Given the description of an element on the screen output the (x, y) to click on. 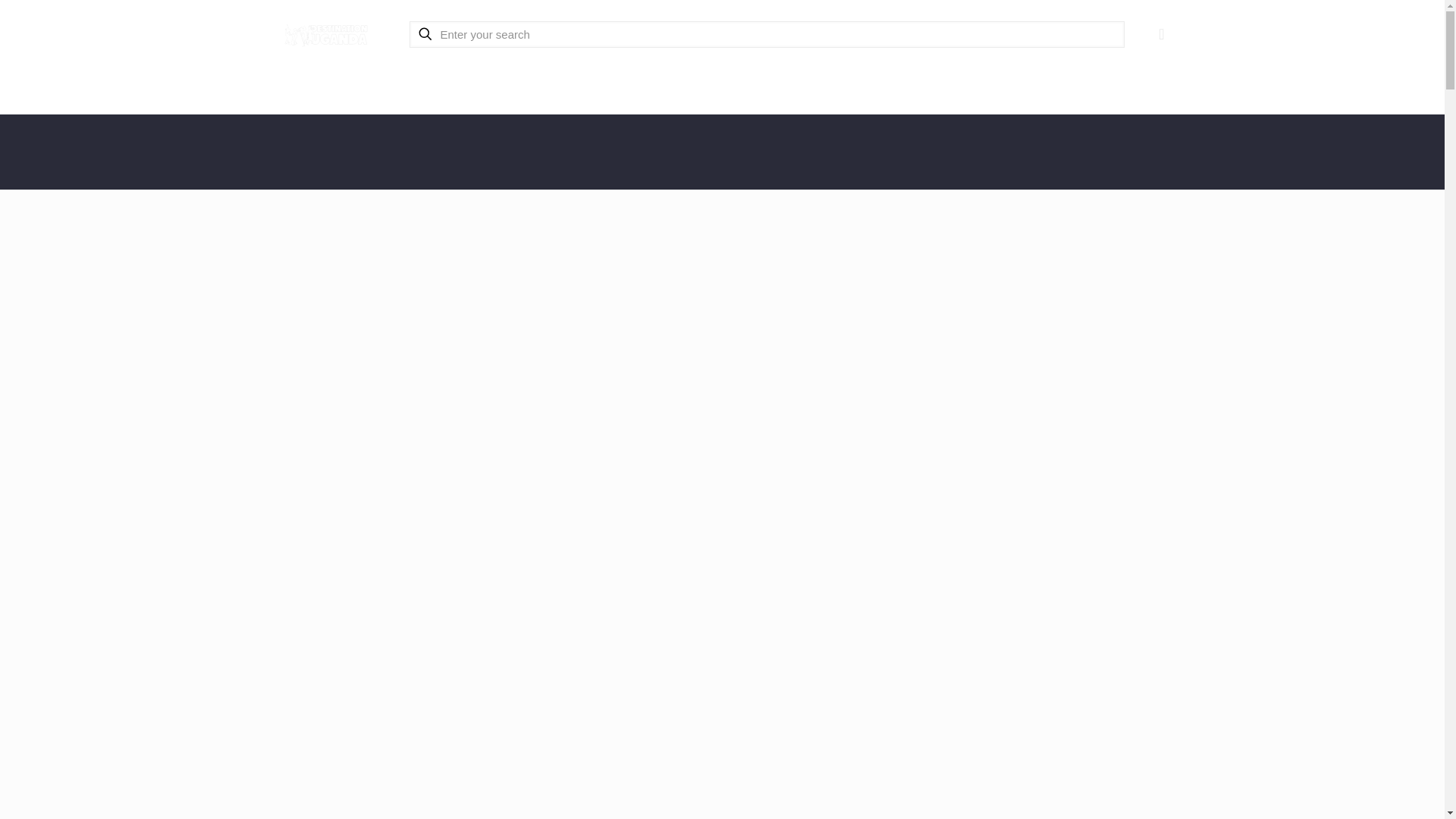
Wildlife (496, 86)
Travel (298, 86)
Contact (1045, 86)
About us (973, 86)
Destination Uganda Travelers (324, 33)
Work with us (1128, 86)
Experiences (576, 86)
Culture (363, 86)
People (430, 86)
